Given the description of an element on the screen output the (x, y) to click on. 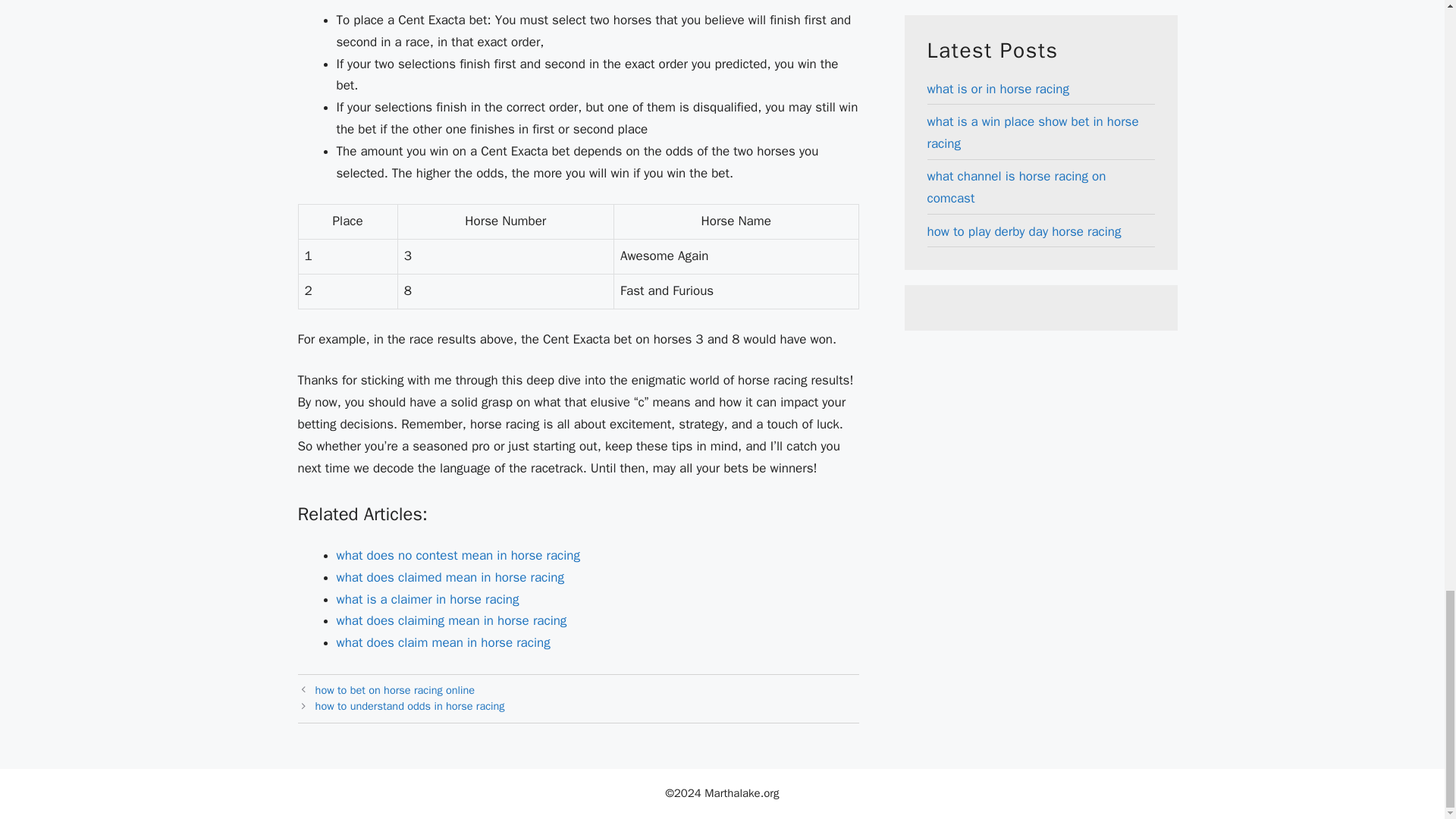
what does claimed mean in horse racing (450, 577)
how to understand odds in horse racing (410, 705)
what does claim mean in horse racing (443, 642)
what does no contest mean in horse racing (458, 555)
how to bet on horse racing online (394, 689)
what is a claimer in horse racing (427, 598)
what does claiming mean in horse racing (451, 620)
